Given the description of an element on the screen output the (x, y) to click on. 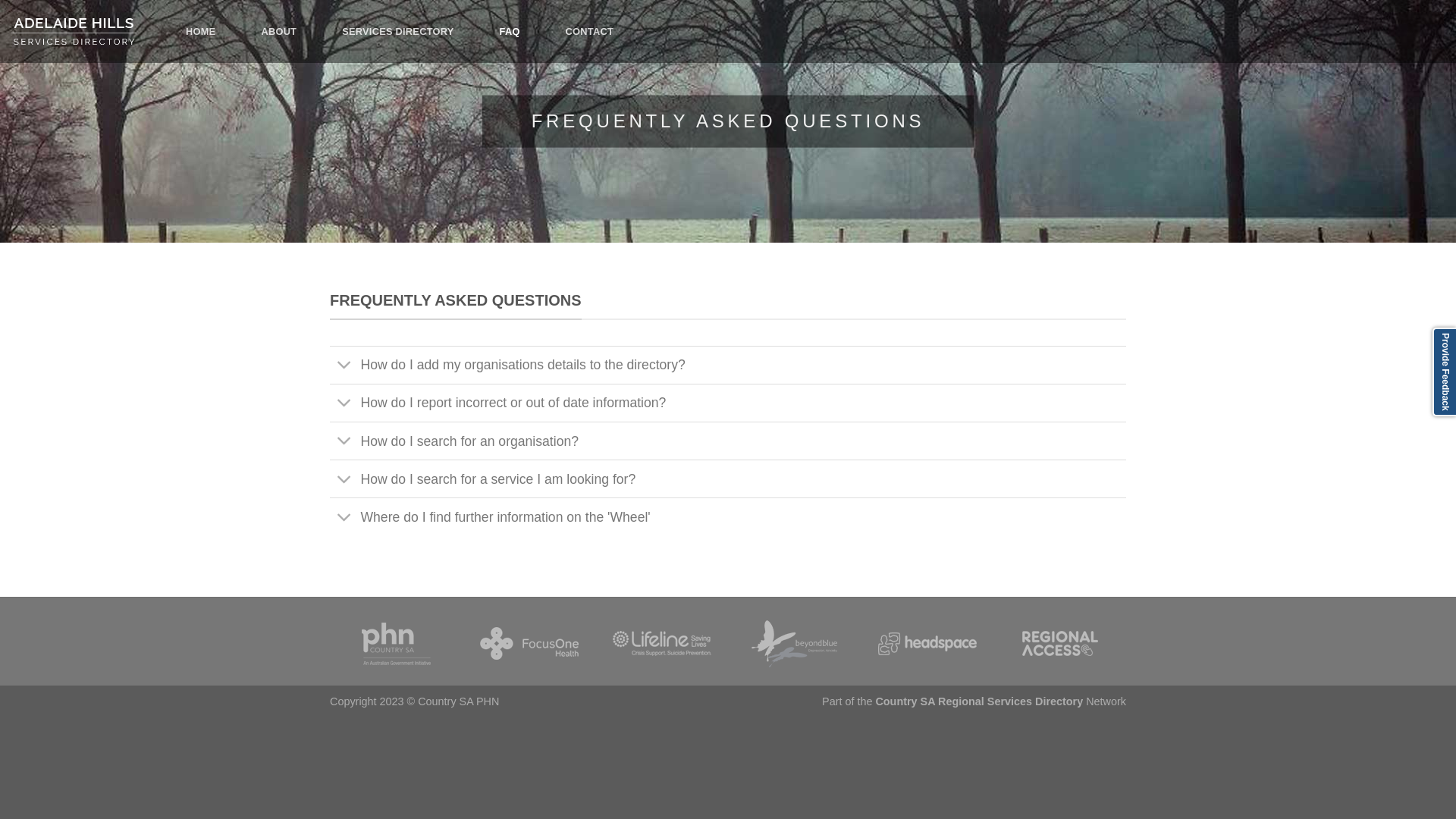
Where do I find further information on the 'Wheel' Element type: text (727, 516)
How do I search for an organisation? Element type: text (727, 440)
Country SA PHN Element type: hover (395, 643)
SERVICES DIRECTORY Element type: text (397, 31)
CONTACT Element type: text (589, 31)
FocusOne Health Element type: hover (528, 643)
HOME Element type: text (200, 31)
Beyond Blue Element type: hover (794, 643)
headspace Element type: hover (927, 643)
FAQ Element type: text (509, 31)
How do I add my organisations details to the directory? Element type: text (727, 364)
How do I search for a service I am looking for? Element type: text (727, 478)
Lifeline Element type: hover (661, 642)
How do I report incorrect or out of date information? Element type: text (727, 402)
Adelaide Hills - Adelaide Hills Services Directory Element type: hover (87, 31)
Regional Access Element type: hover (1060, 642)
Skip to content Element type: text (0, 0)
ABOUT Element type: text (278, 31)
Country SA Regional Services Directory Element type: text (978, 701)
